Given the description of an element on the screen output the (x, y) to click on. 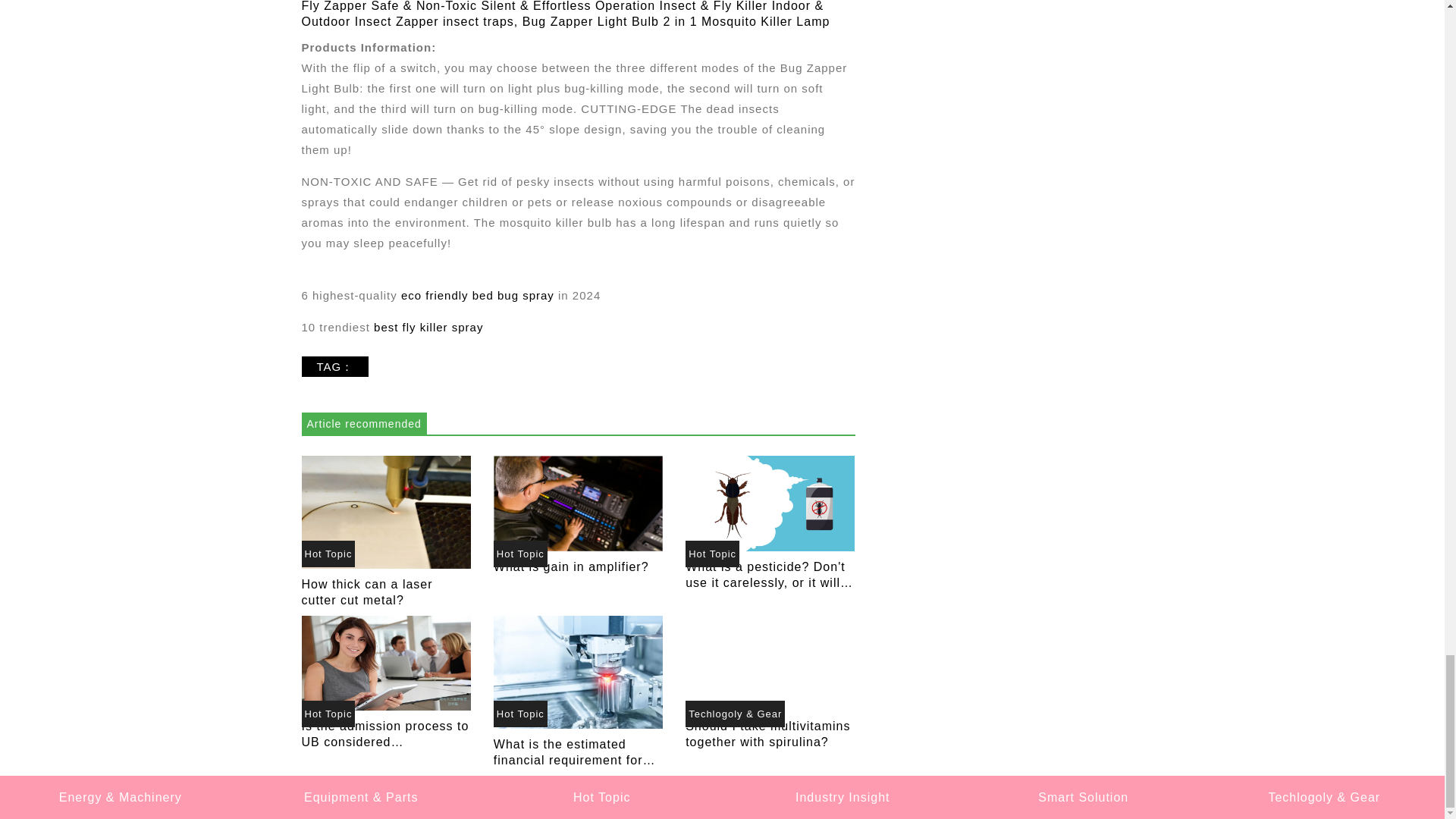
best fly killer spray (428, 327)
How thick can a laser cutter cut metal? (366, 592)
Is the admission process to UB considered straightforward? (385, 662)
How thick can a laser cutter cut metal? (385, 510)
Should I take multivitamins together with spirulina? (767, 733)
Is the admission process to UB considered straightforward? (385, 663)
What is gain in amplifier? (577, 503)
What is gain in amplifier? (571, 566)
